Given the description of an element on the screen output the (x, y) to click on. 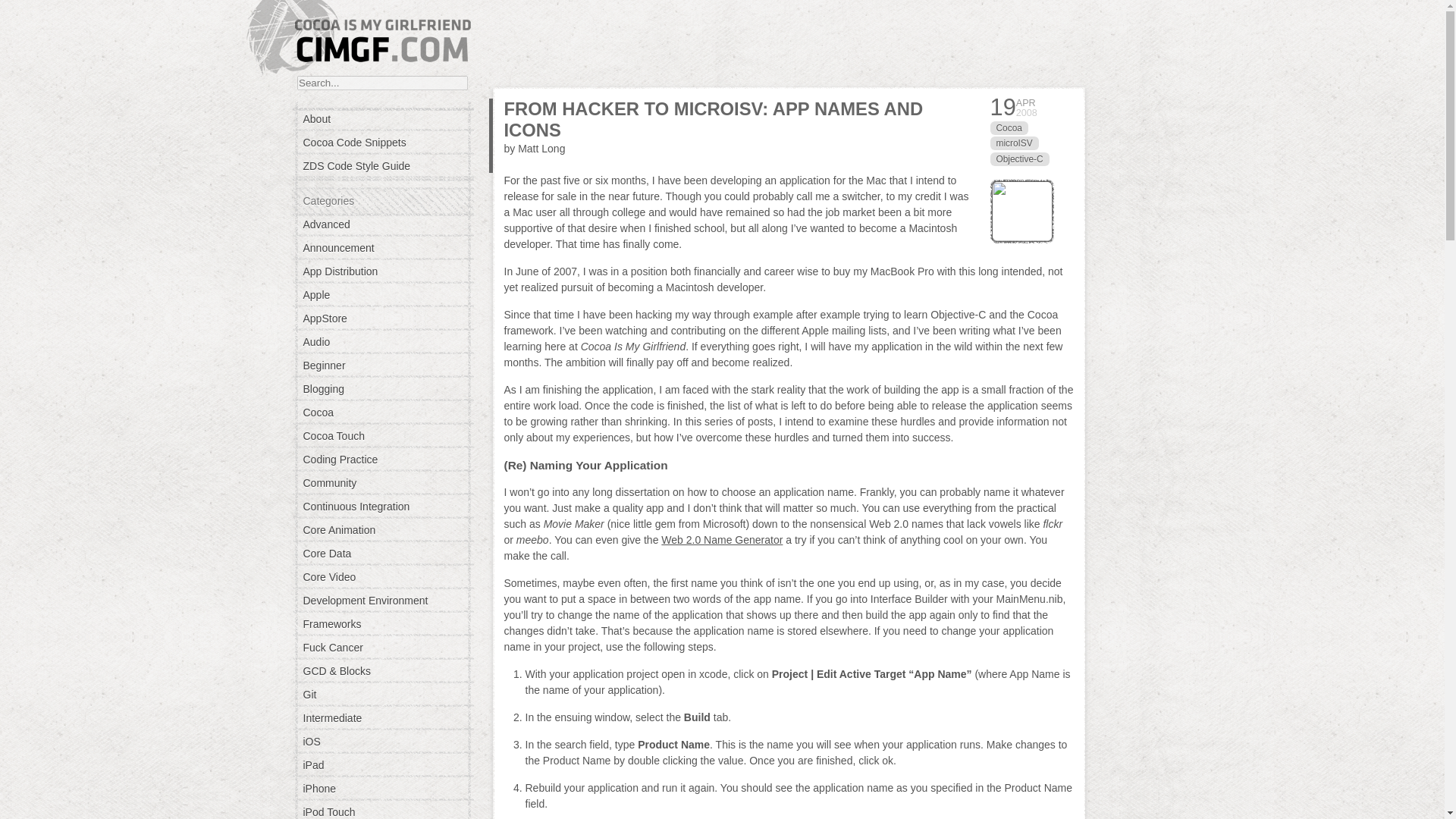
Core Data (382, 553)
AppStore (382, 318)
Cocoa Touch (382, 435)
Community (382, 482)
Audio (382, 341)
Blogging (382, 388)
Intermediate (382, 717)
iPod Touch (382, 811)
Cocoa Code Snippets (382, 142)
Fuck Cancer (382, 647)
